Given the description of an element on the screen output the (x, y) to click on. 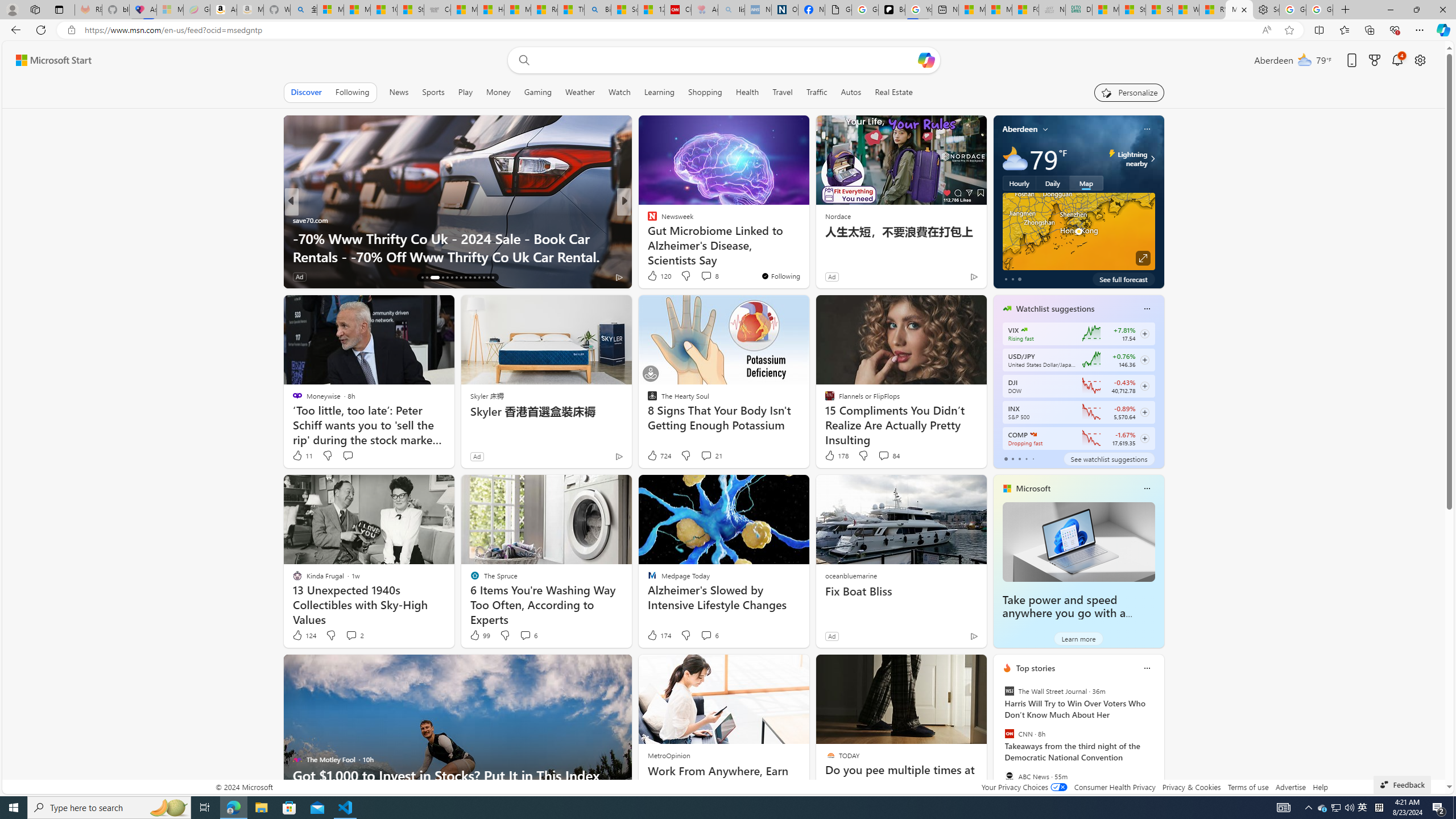
View comments 7 Comment (703, 276)
1 Like (651, 276)
259 Like (654, 276)
Consumer Health Privacy (1115, 786)
Learning (659, 92)
View comments 4 Comment (702, 276)
Click to see more information (1142, 257)
Lightning nearby (1150, 158)
Pegasystems (661, 238)
